Given the description of an element on the screen output the (x, y) to click on. 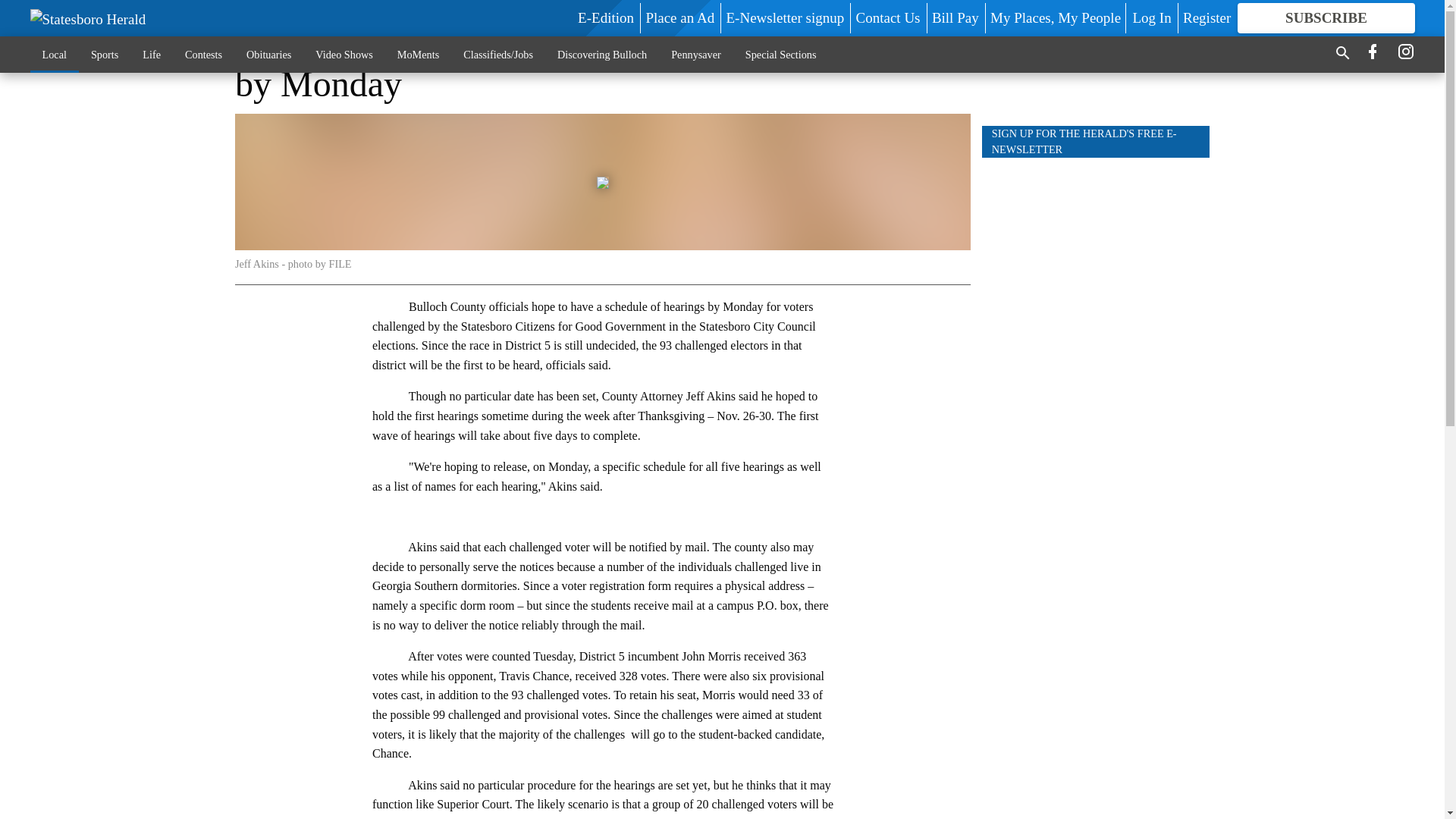
E-Edition (605, 17)
E-Newsletter signup (785, 17)
Register (1206, 17)
Bill Pay (954, 17)
Contact Us (888, 17)
SUBSCRIBE (1325, 18)
Place an Ad (679, 17)
My Places, My People (1055, 17)
Log In (1151, 17)
